Given the description of an element on the screen output the (x, y) to click on. 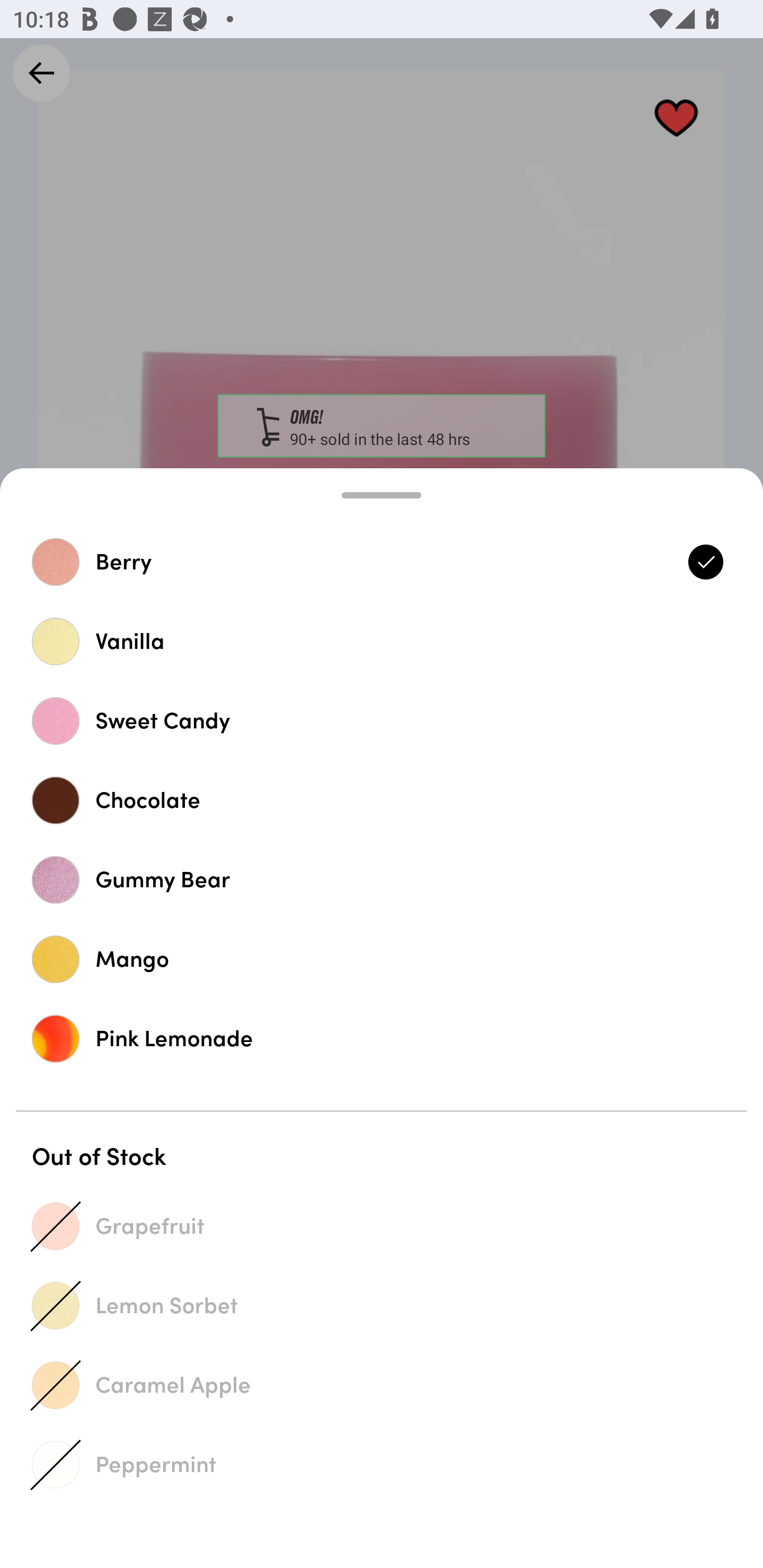
Berry  (381, 562)
Vanilla (381, 641)
Sweet Candy (381, 720)
Chocolate (381, 800)
Gummy Bear (381, 879)
Mango (381, 958)
Pink Lemonade (381, 1038)
Grapefruit (381, 1225)
Lemon Sorbet (381, 1305)
Caramel Apple (381, 1385)
Peppermint (381, 1464)
